Given the description of an element on the screen output the (x, y) to click on. 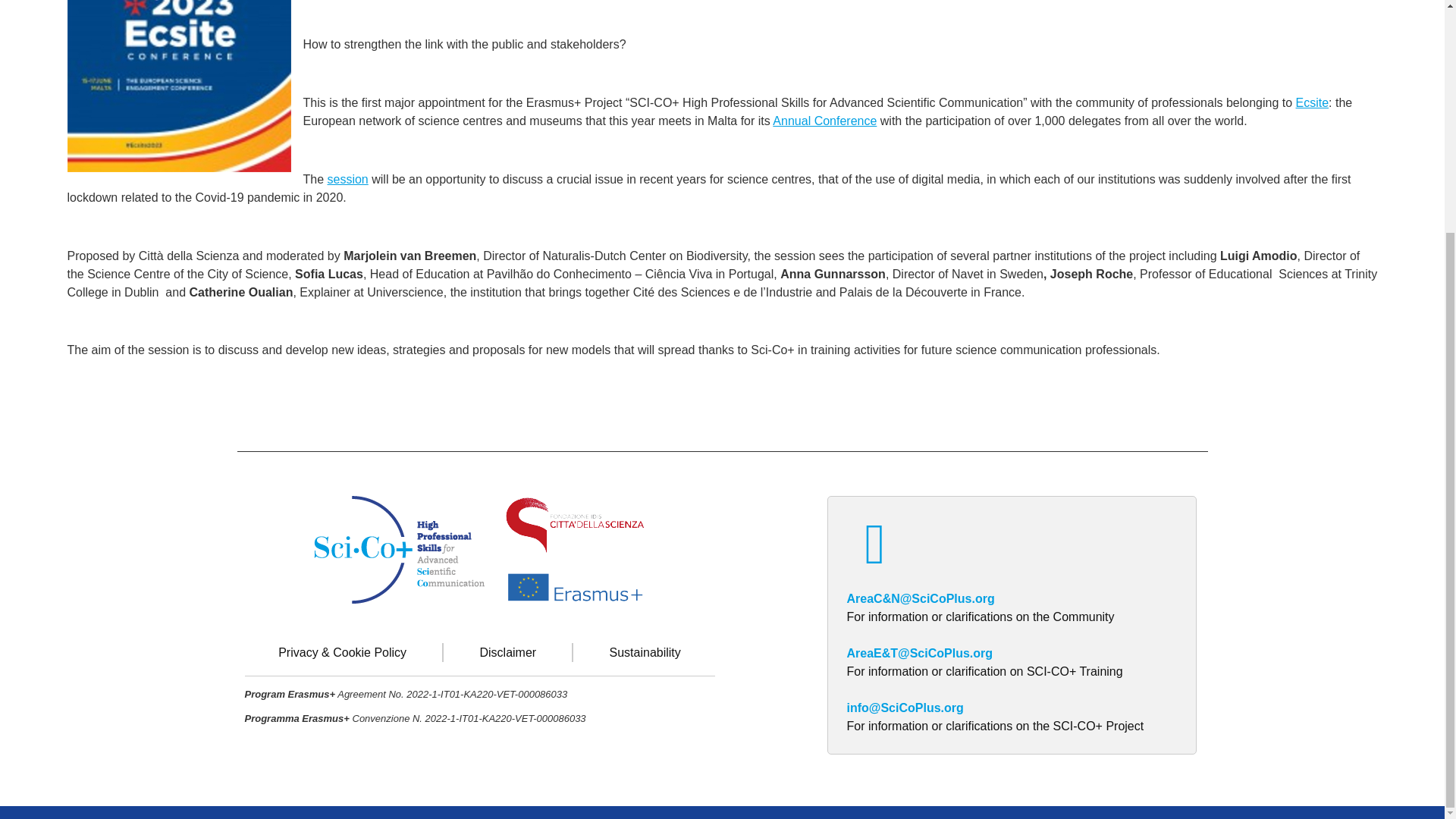
Sustainability (644, 652)
Annual Conference (824, 120)
Disclaimer (507, 652)
Ecsite (1312, 102)
session (347, 178)
